Given the description of an element on the screen output the (x, y) to click on. 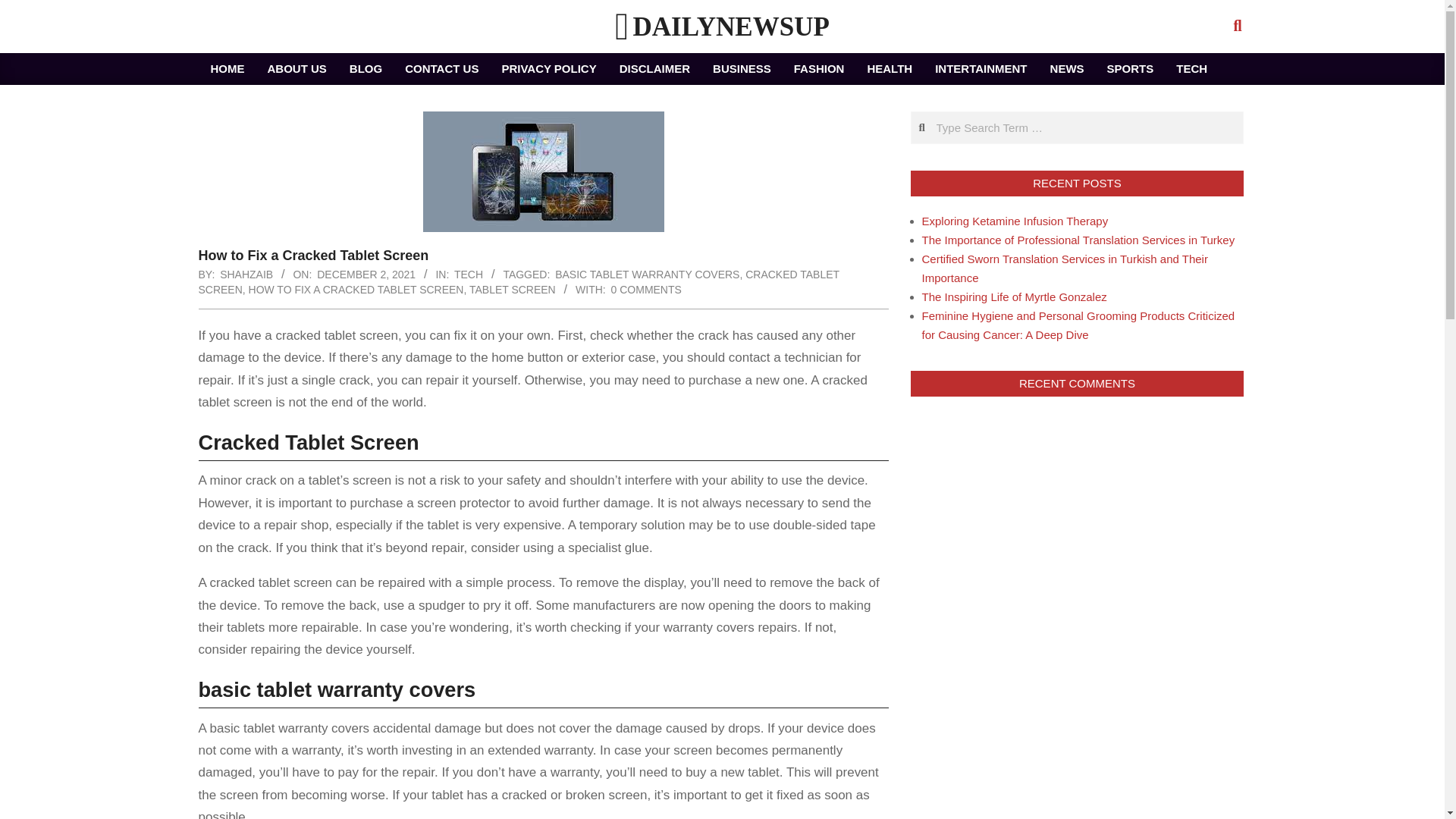
PRIVACY POLICY (548, 69)
TECH (468, 274)
TABLET SCREEN (512, 289)
DISCLAIMER (654, 69)
NEWS (1067, 69)
BUSINESS (742, 69)
ABOUT US (296, 69)
HOW TO FIX A CRACKED TABLET SCREEN (356, 289)
Thursday, December 2, 2021, 9:00 pm (365, 274)
HOME (227, 69)
